Given the description of an element on the screen output the (x, y) to click on. 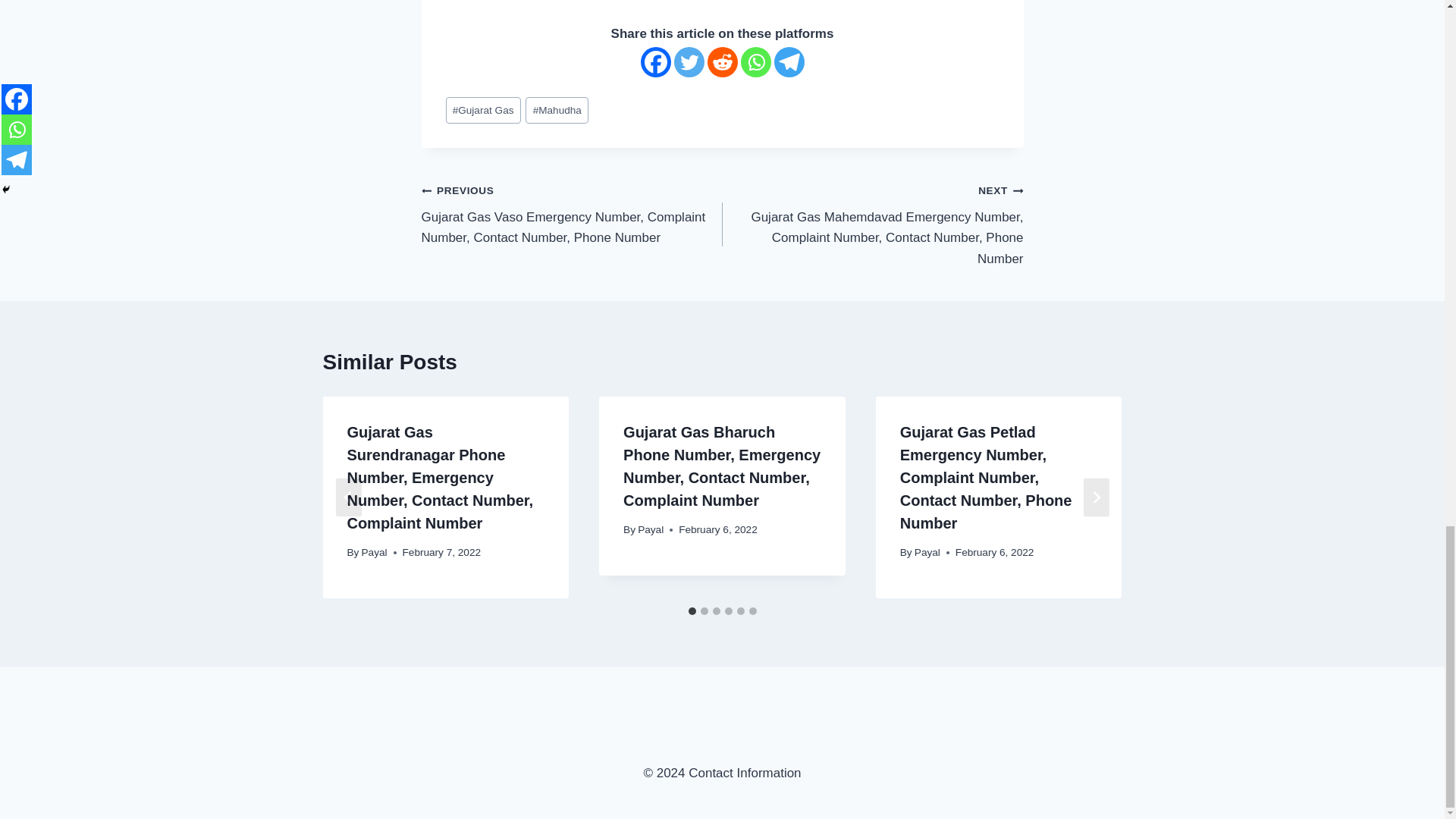
Reddit (721, 61)
Mahudha (556, 110)
Whatsapp (754, 61)
Gujarat Gas (483, 110)
Facebook (654, 61)
Telegram (788, 61)
Twitter (687, 61)
